Given the description of an element on the screen output the (x, y) to click on. 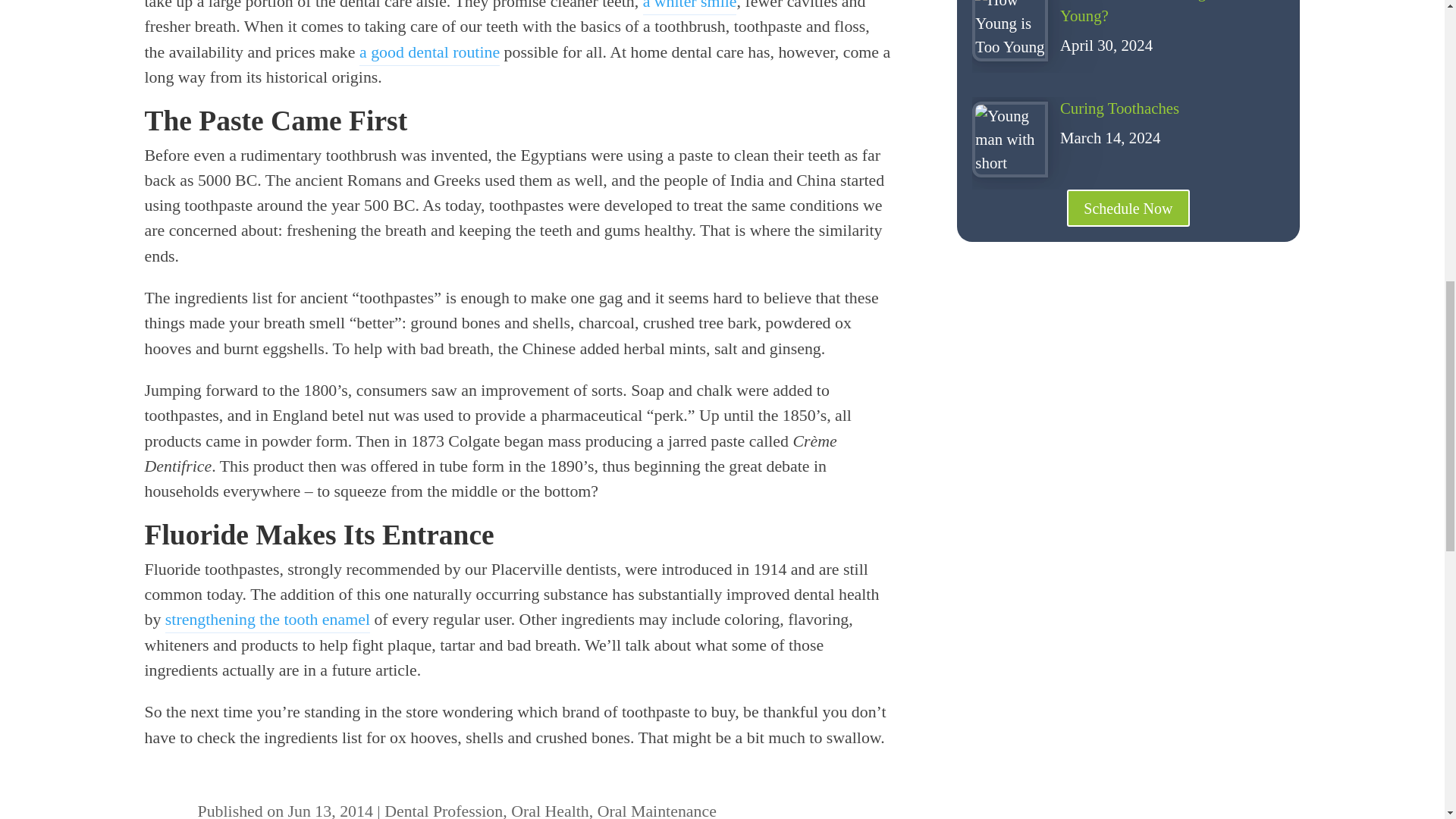
How often should I brush and floss? (429, 53)
Fluoride is Beneficial! (267, 621)
Tooth Whitening (689, 7)
